Given the description of an element on the screen output the (x, y) to click on. 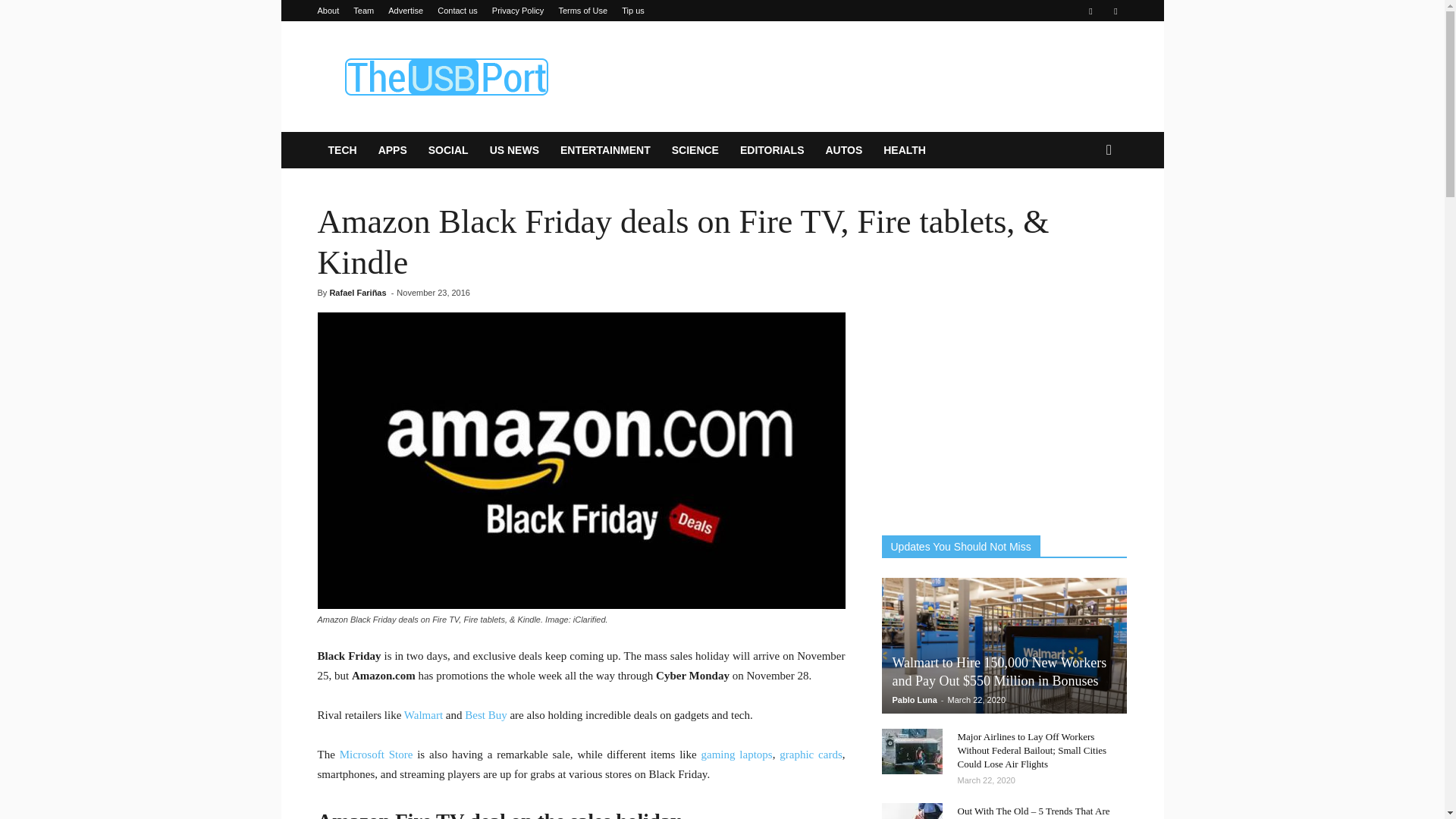
HEALTH (904, 149)
Team (363, 10)
Contact us (457, 10)
TECH (341, 149)
The USB Port (445, 76)
Tip us (633, 10)
ENTERTAINMENT (605, 149)
EDITORIALS (772, 149)
SOCIAL (448, 149)
About (328, 10)
Facebook (1090, 10)
Twitter (1114, 10)
Terms of Use (582, 10)
APPS (392, 149)
